Given the description of an element on the screen output the (x, y) to click on. 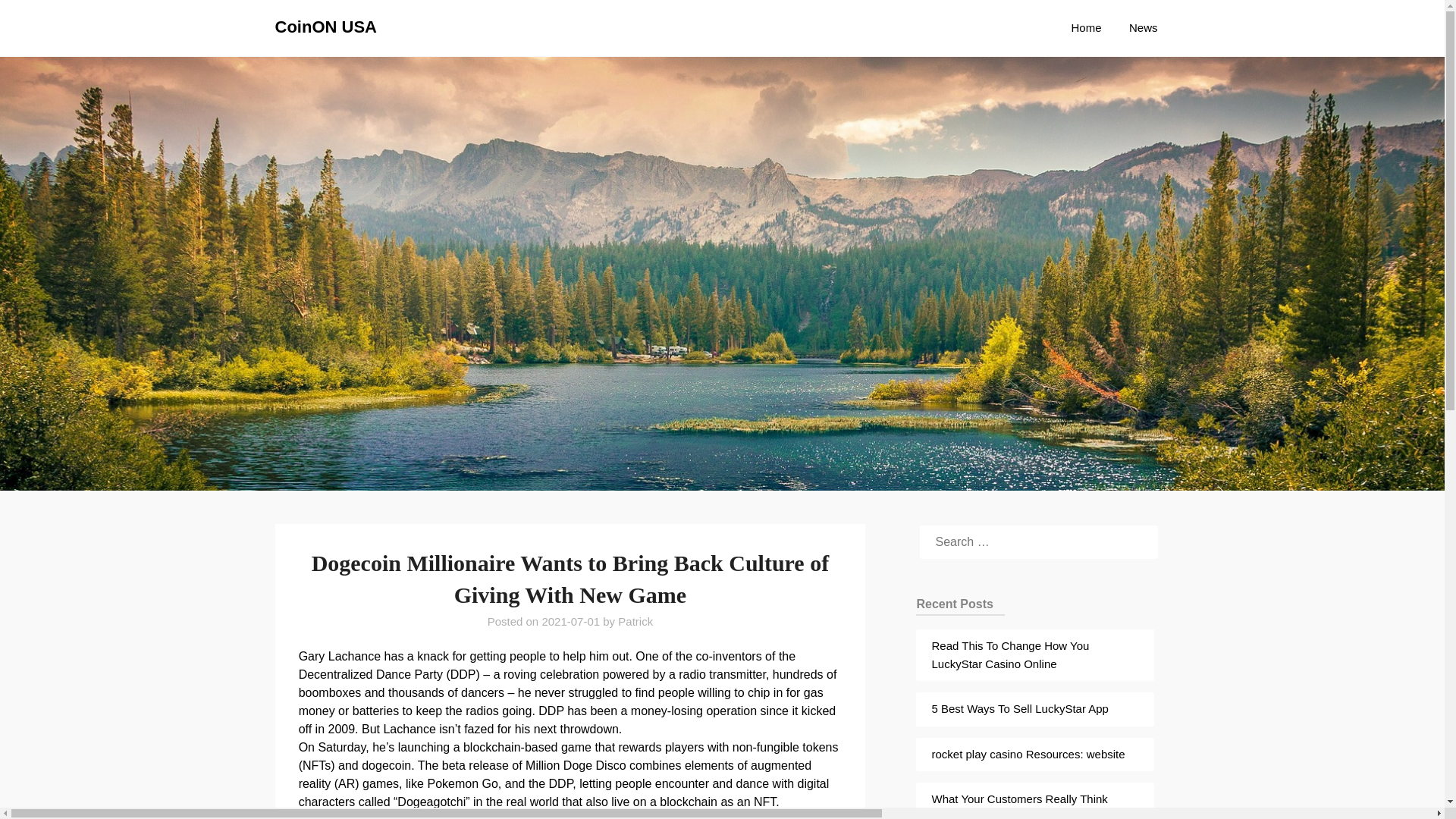
Read This To Change How You LuckyStar Casino Online (1010, 654)
2021-07-01 (570, 621)
rocket play casino Resources: website (1027, 753)
What Your Customers Really Think About Your Exness? (1018, 805)
Search (38, 22)
5 Best Ways To Sell LuckyStar App (1019, 707)
Home (1086, 27)
CoinON USA (325, 26)
News (1143, 27)
Patrick (634, 621)
